Given the description of an element on the screen output the (x, y) to click on. 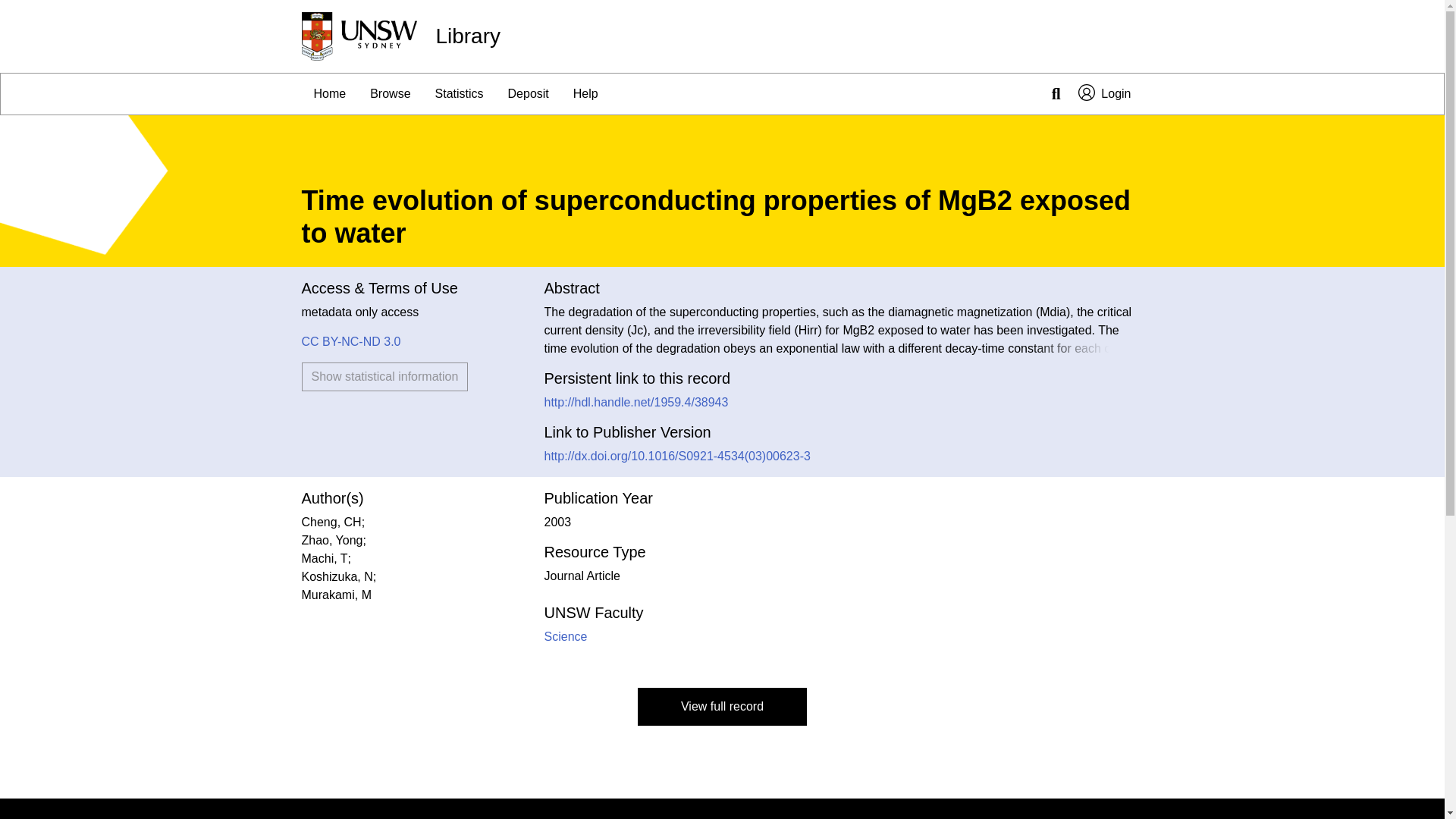
Science (566, 635)
Login (1103, 93)
Show statistical information (384, 376)
View full record (721, 706)
Browse (390, 93)
Deposit (528, 93)
CC BY-NC-ND 3.0 (351, 341)
Statistics (459, 93)
Library (467, 36)
Help (585, 93)
Home (329, 93)
Search (1055, 94)
